Given the description of an element on the screen output the (x, y) to click on. 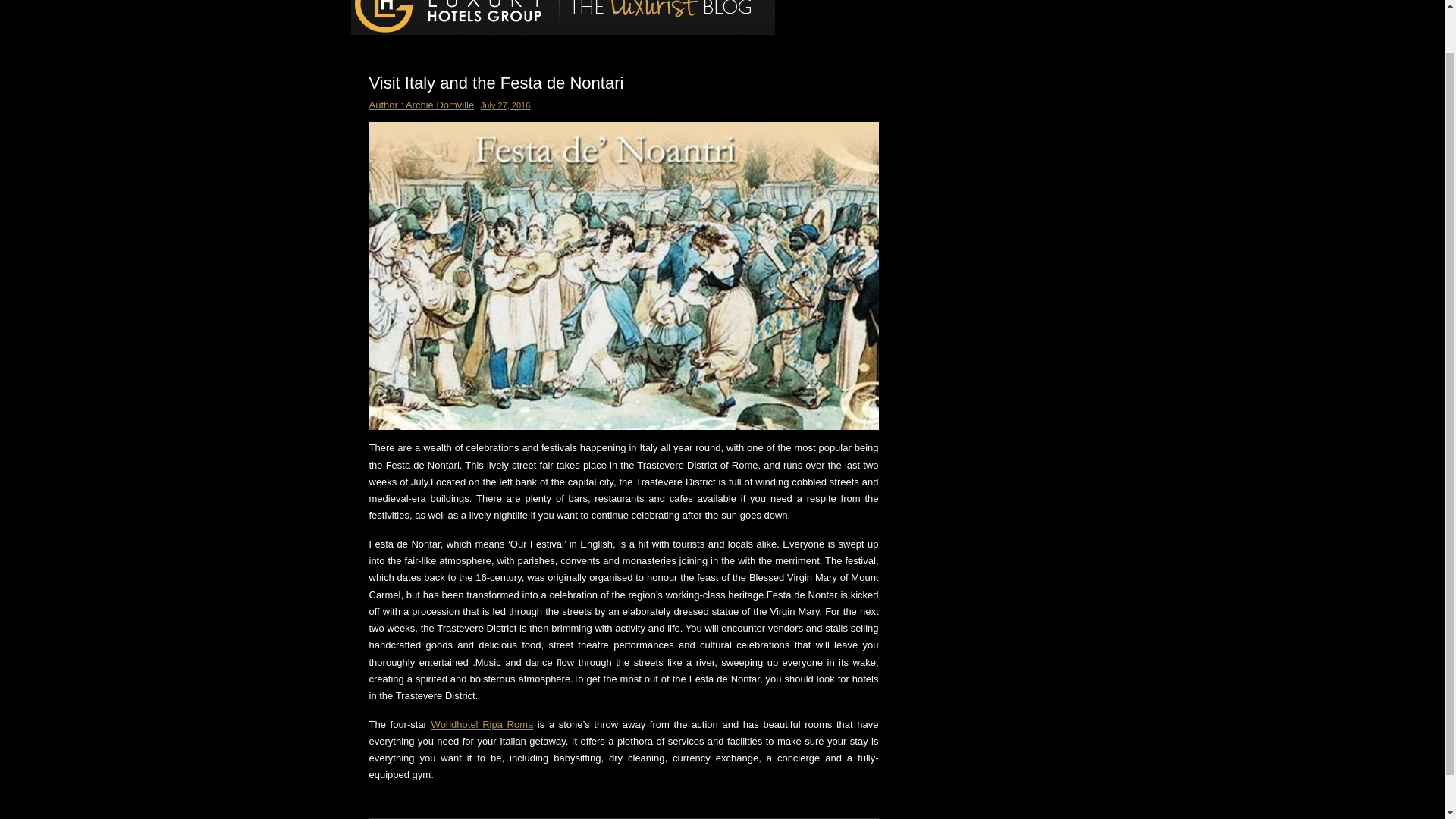
Luxury Hotels Group Blog (472, 3)
Posts by Archie Domville (440, 104)
Luxury Hotels Group Blog (472, 3)
Author : (386, 104)
8:45 am (503, 104)
Archie Domville (440, 104)
July 27, 2016 (503, 104)
Worldhotel Ripa Roma (482, 724)
